Given the description of an element on the screen output the (x, y) to click on. 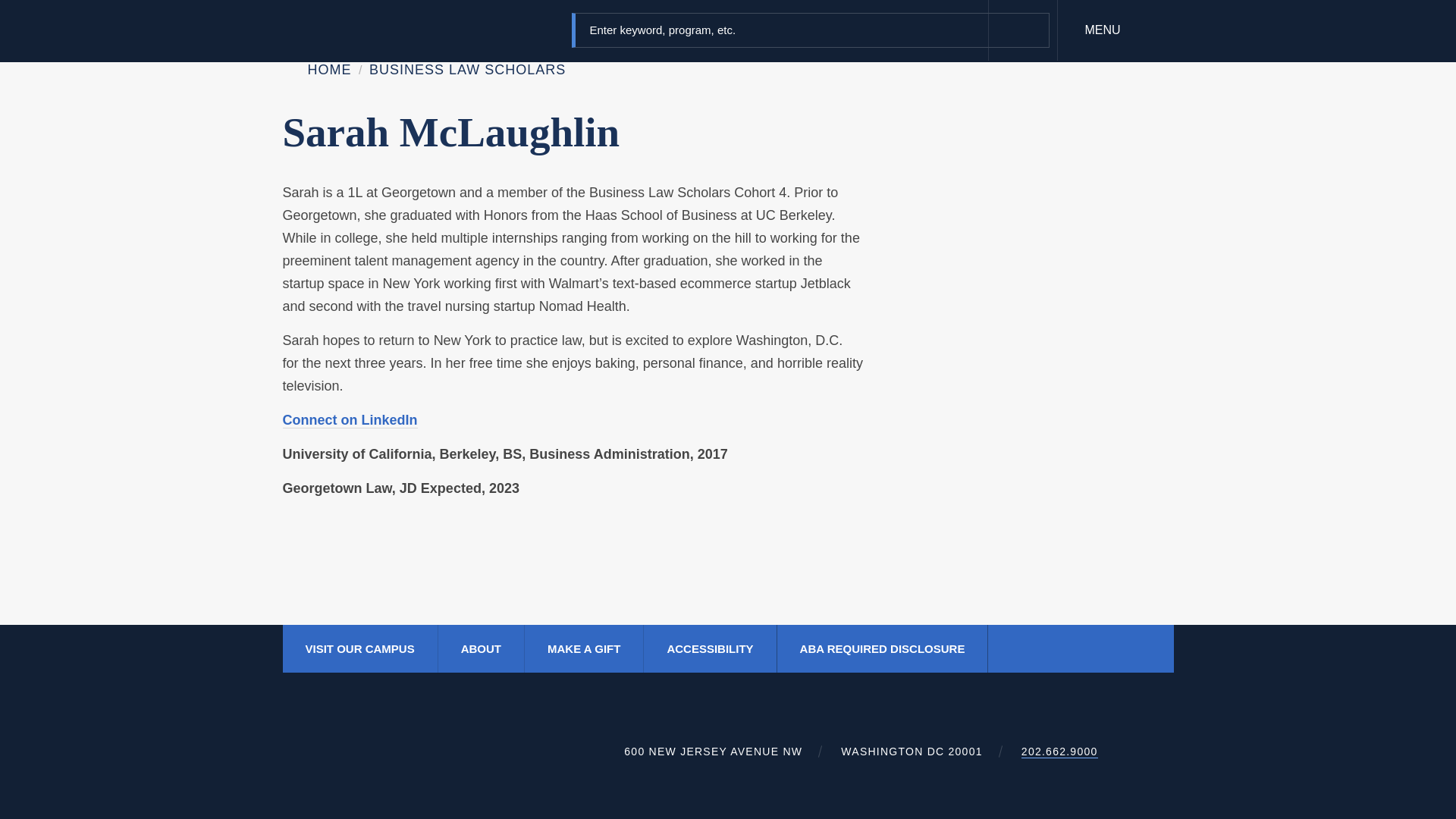
YouTube (1120, 648)
X (1059, 648)
ACCESSIBILITY (709, 648)
ABOUT (480, 648)
BUSINESS LAW SCHOLARS (467, 69)
ABA REQUIRED DISCLOSURE (882, 648)
Facebook (1029, 648)
LinkedIn (1090, 648)
MAKE A GIFT (583, 648)
MENU (1115, 29)
